Given the description of an element on the screen output the (x, y) to click on. 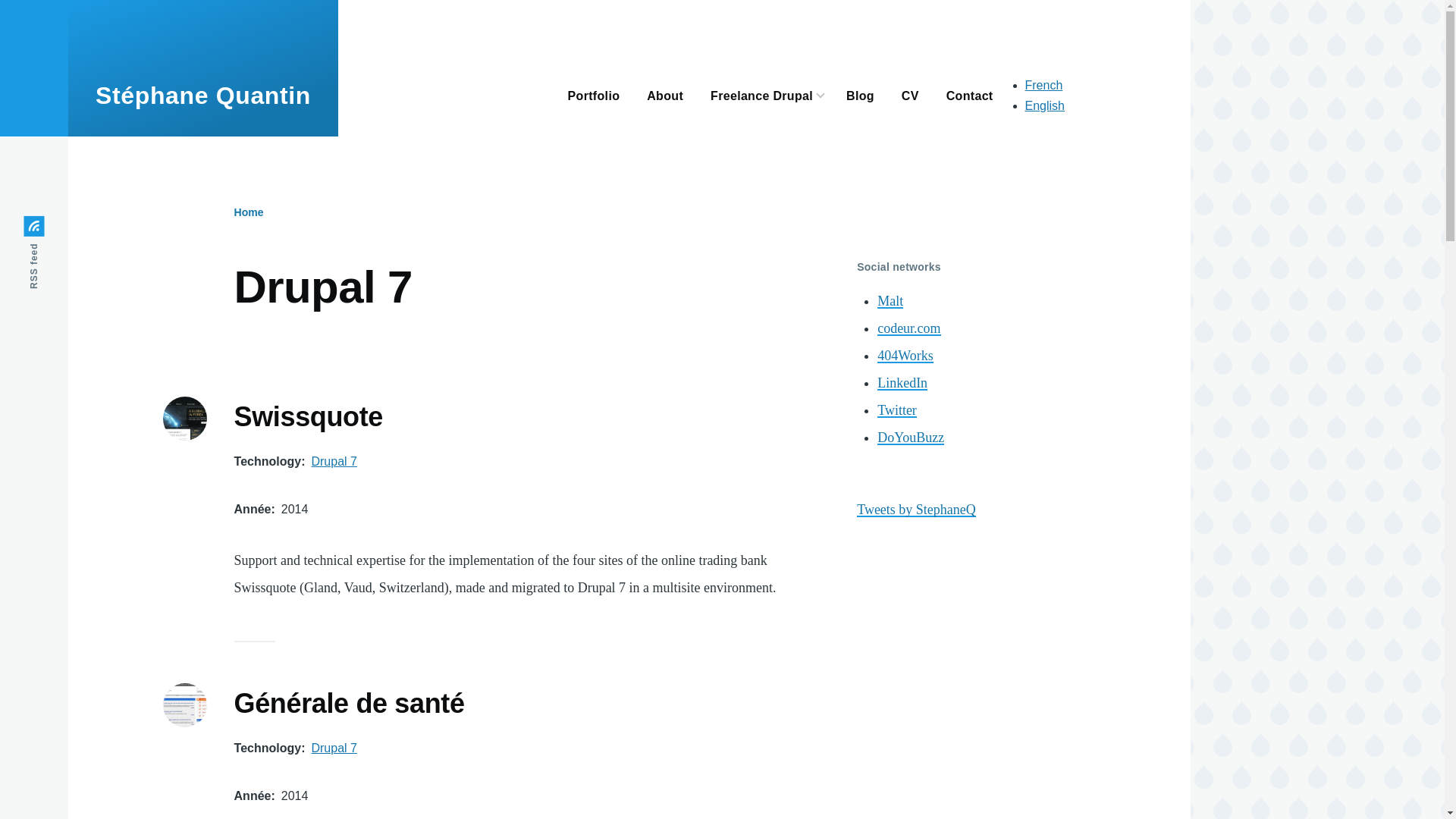
Freelance Drupal (761, 94)
Drupal 7 (333, 461)
Skip to main content (595, 6)
Home (248, 212)
Malt (889, 300)
English (1044, 105)
Drupal 7 (333, 748)
French (1043, 84)
Home (203, 94)
Swissquote (308, 417)
